Given the description of an element on the screen output the (x, y) to click on. 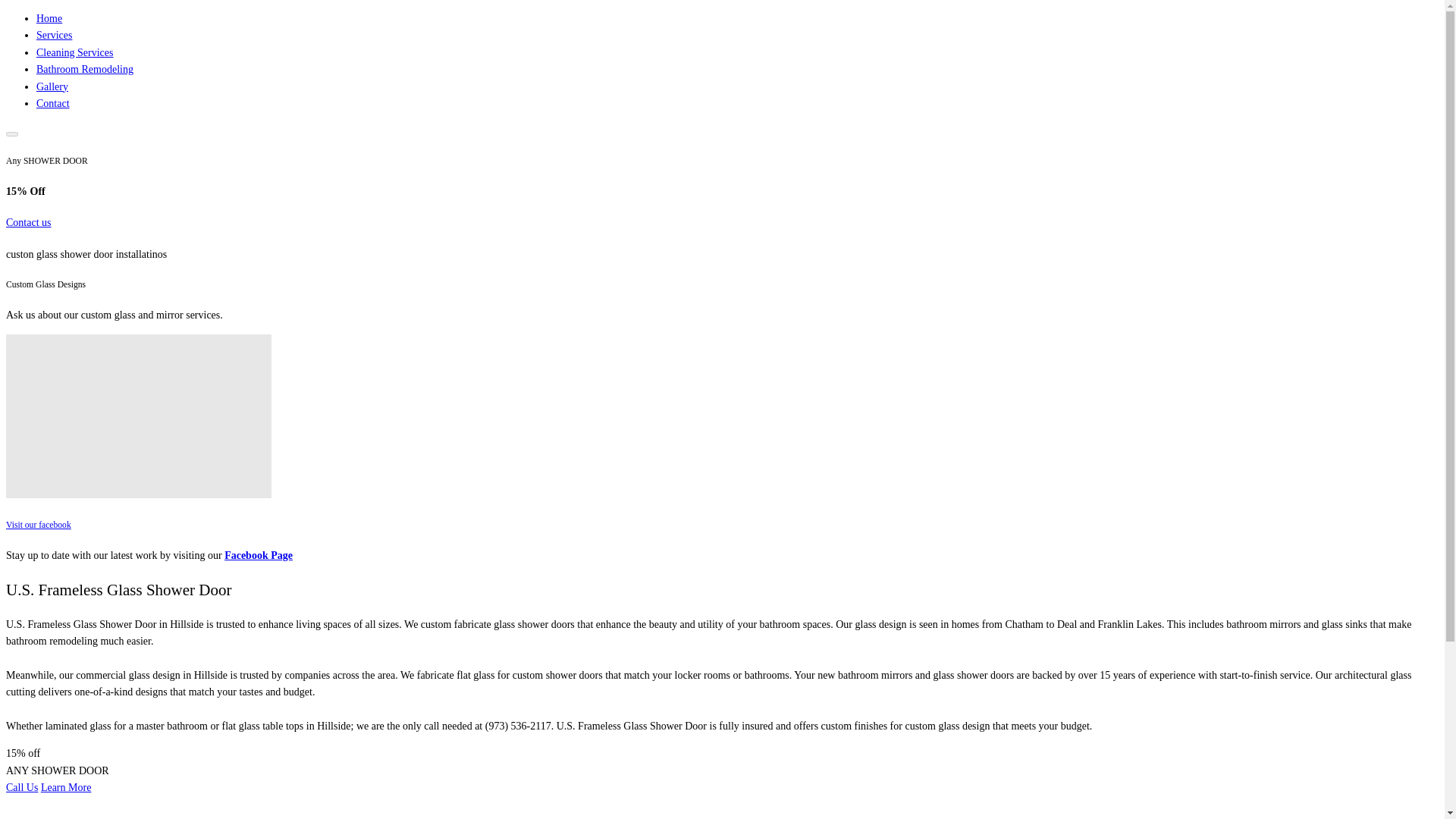
Call Us (21, 787)
Learn More (65, 787)
Facebook Page (258, 555)
Services (53, 34)
Contact us (27, 222)
Visit our facebook (38, 524)
Cleaning Services (74, 52)
Bathroom Remodeling (84, 69)
Home (49, 18)
Contact (52, 102)
Gallery (52, 86)
